Given the description of an element on the screen output the (x, y) to click on. 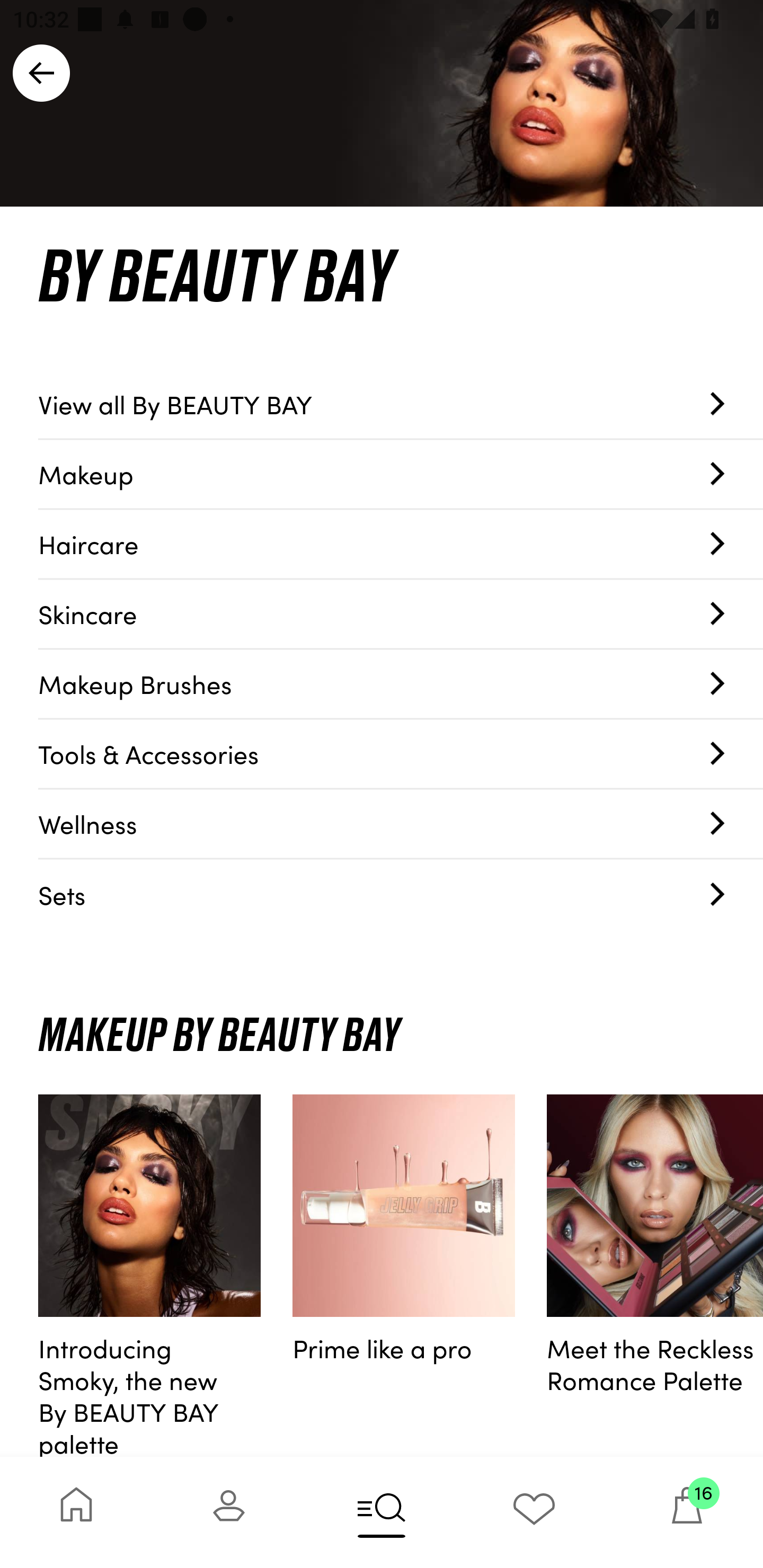
View all By BEAUTY BAY  (400, 404)
Makeup (400, 474)
Haircare (400, 544)
Skincare (400, 614)
Makeup Brushes (400, 684)
Tools & Accessories (400, 753)
Wellness (400, 823)
Sets (400, 894)
Introducing Smoky, the new By BEAUTY BAY palette (149, 1275)
Prime like a pro (403, 1275)
Meet the Reckless Romance Palette (655, 1275)
16 (686, 1512)
